Given the description of an element on the screen output the (x, y) to click on. 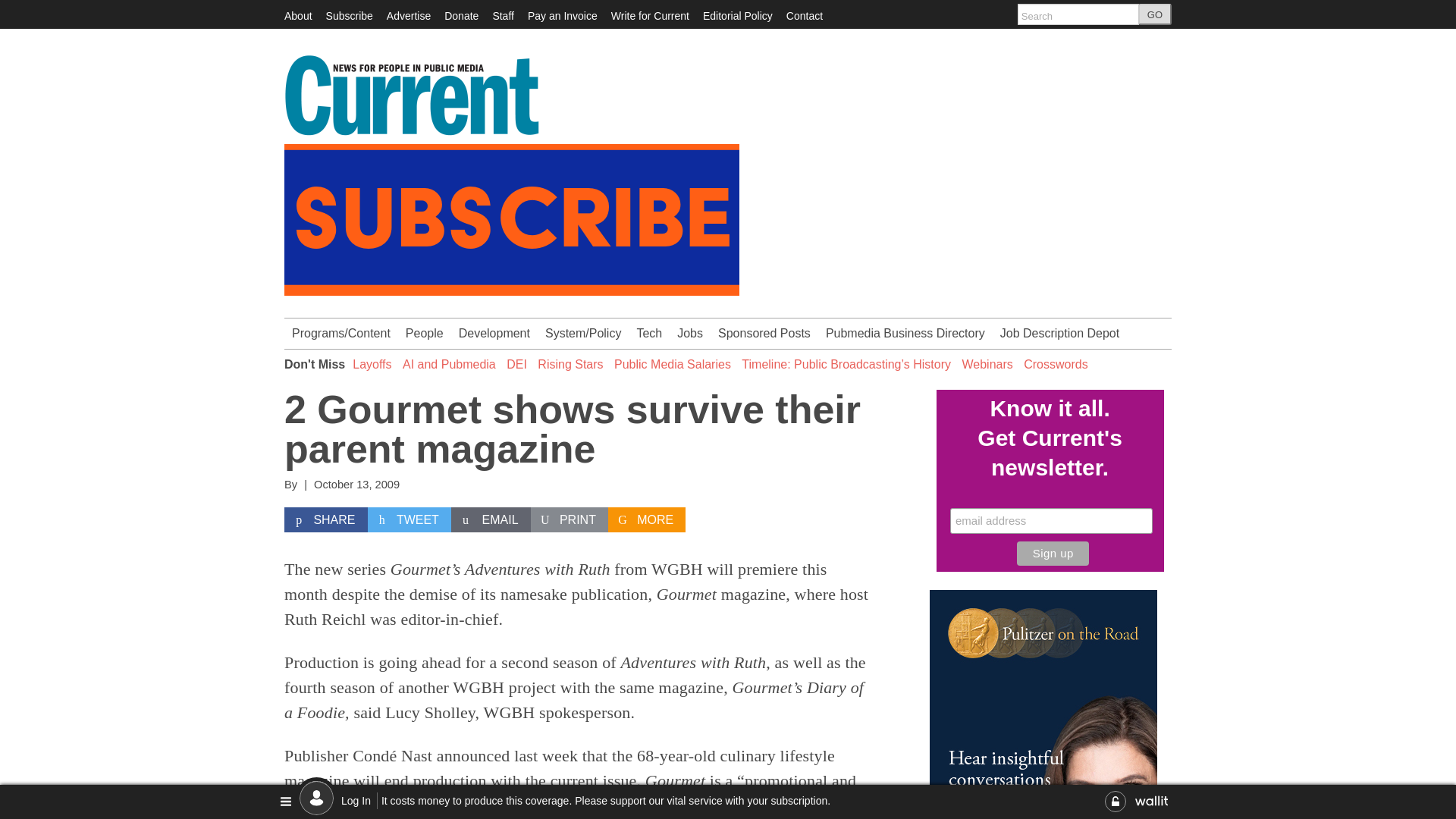
Contact (804, 15)
Editorial Policy (738, 15)
About (298, 15)
Subscribe (349, 15)
Advertise (408, 15)
Sign up (1052, 553)
Write for Current (649, 15)
GO (1155, 14)
Print this article (569, 519)
Staff (502, 15)
Pay an Invoice (561, 15)
Donate (461, 15)
